Given the description of an element on the screen output the (x, y) to click on. 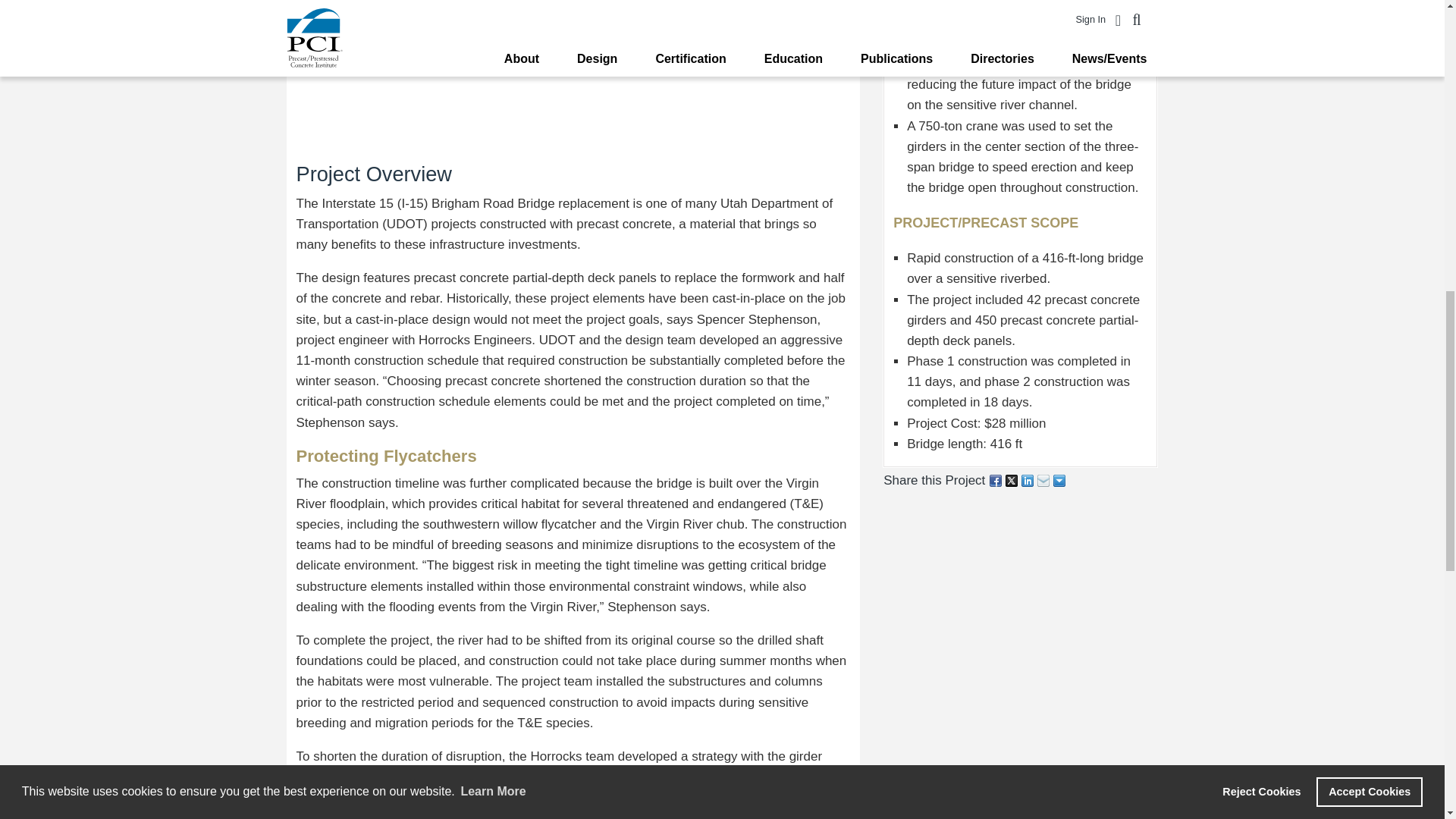
Share on Facebook (997, 480)
Share on LinkedIn (1028, 480)
More options (1059, 480)
Tell a friend (1043, 480)
Tweet this (1013, 480)
Share on LinkedIn (1028, 480)
Show more (1059, 480)
Share on Facebook (997, 480)
Email (1043, 480)
